Given the description of an element on the screen output the (x, y) to click on. 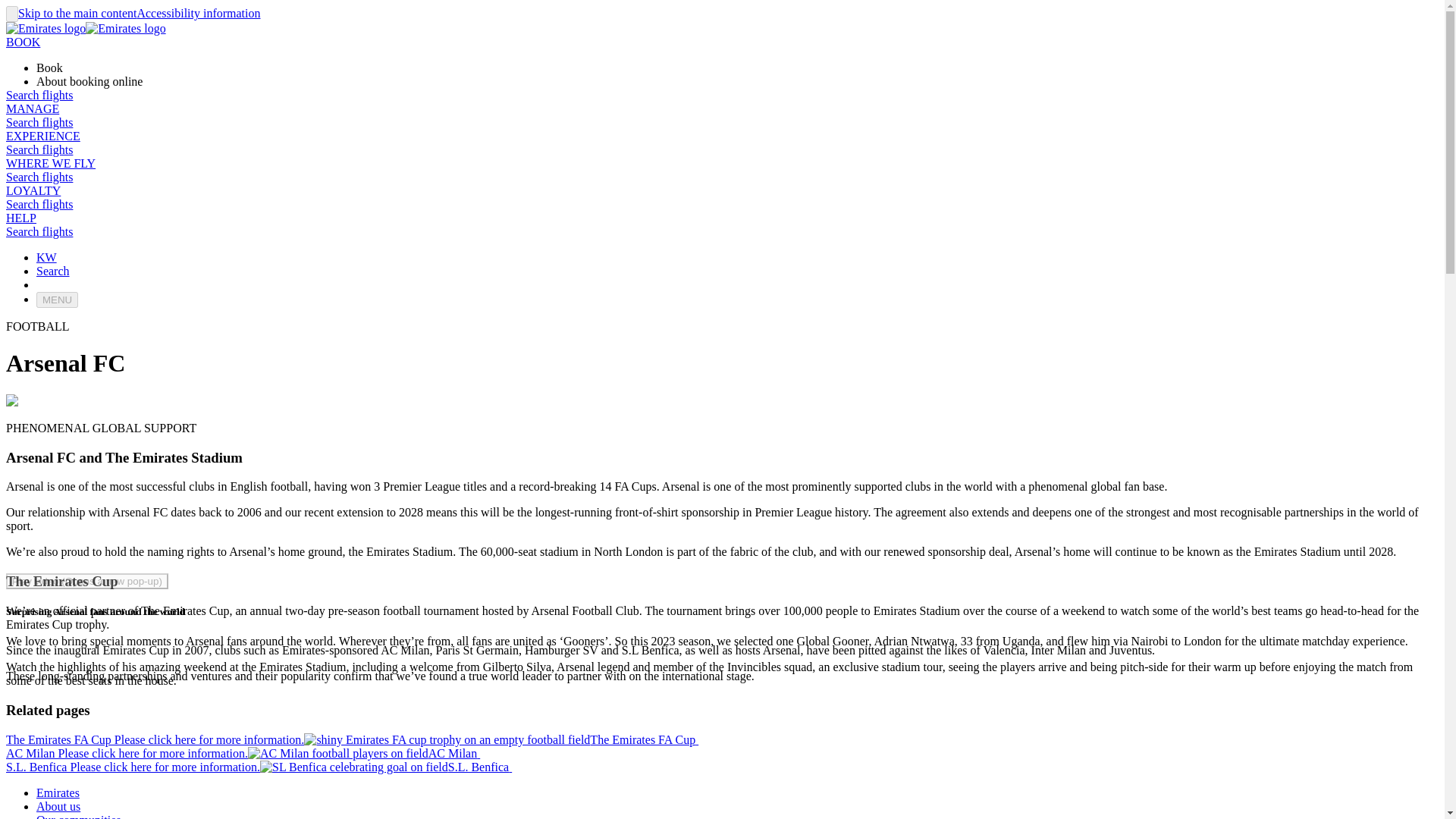
Emirates FA cup (446, 739)
Search flights (38, 94)
MENU (57, 299)
SL Benfica (354, 766)
Search flights (38, 149)
Search flights (38, 231)
Skip to the main content (76, 12)
AC Milan (454, 753)
Search flights (38, 122)
The Emirates FA Cup (643, 739)
S.L. Benfica (480, 766)
Accessibility information (198, 12)
Search flights (38, 176)
AC Milan (337, 753)
Search flights (38, 204)
